Given the description of an element on the screen output the (x, y) to click on. 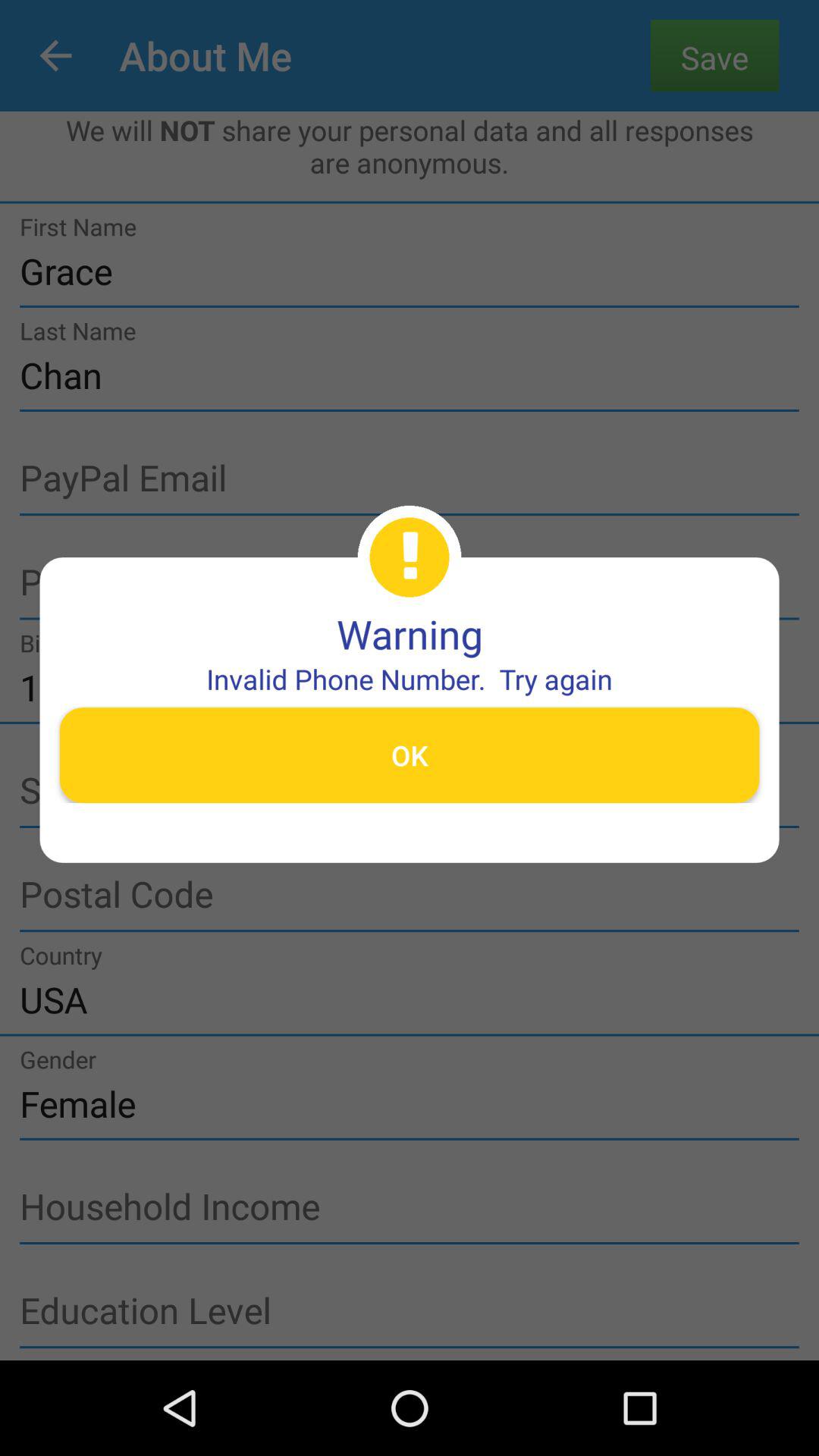
swipe to the ok (409, 755)
